Given the description of an element on the screen output the (x, y) to click on. 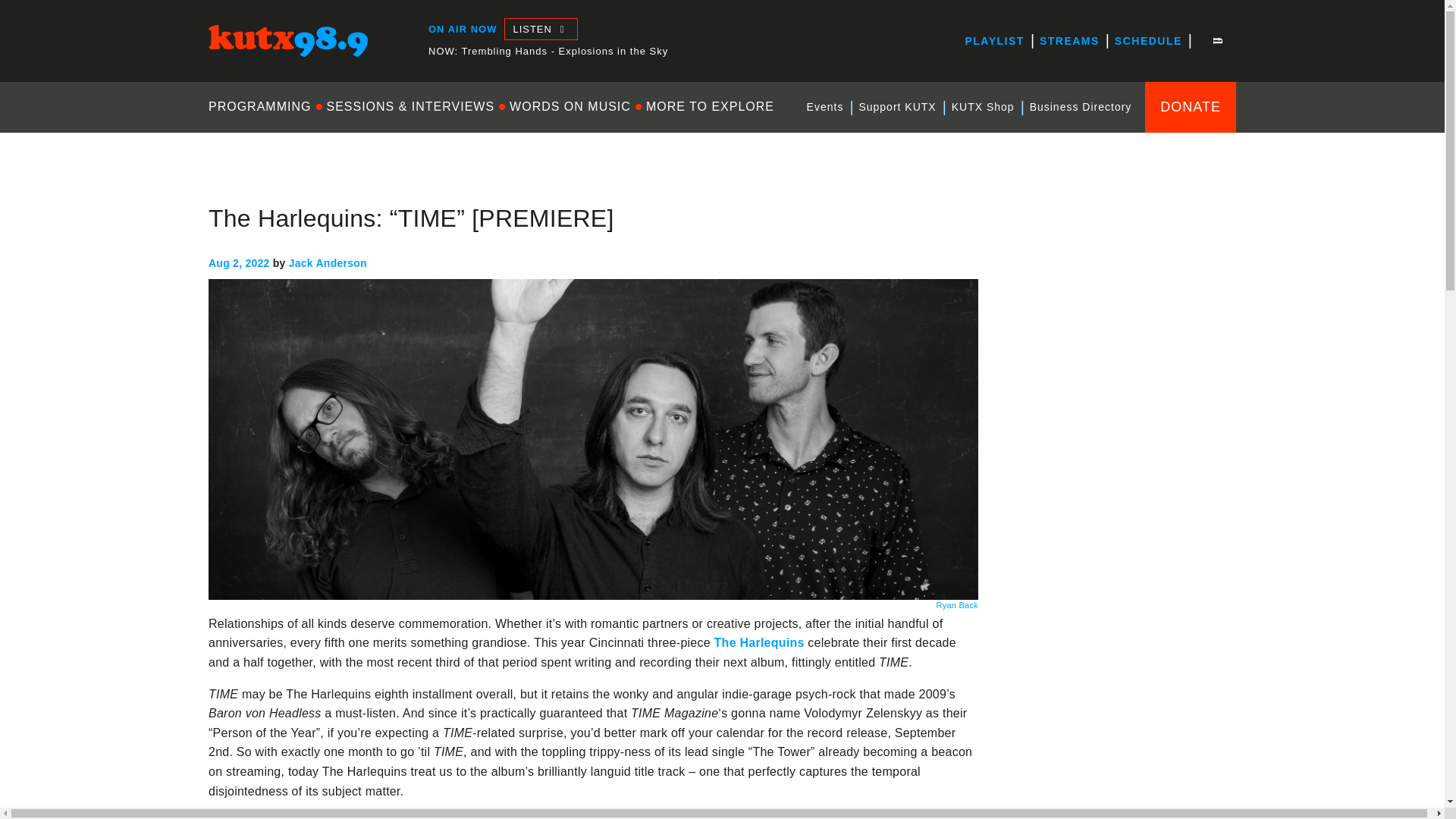
KUTX Shop (982, 106)
Support KUTX (896, 106)
3rd party ad content (1122, 701)
Business Directory (1081, 106)
DONATE (1190, 106)
SCHEDULE (1147, 40)
3rd party ad content (1122, 497)
Events (825, 106)
3rd party ad content (1122, 292)
KUTX (224, 69)
WORDS ON MUSIC (570, 106)
MORE TO EXPLORE (710, 106)
PLAYLIST (993, 40)
STREAMS (1069, 40)
LISTEN (539, 29)
